Given the description of an element on the screen output the (x, y) to click on. 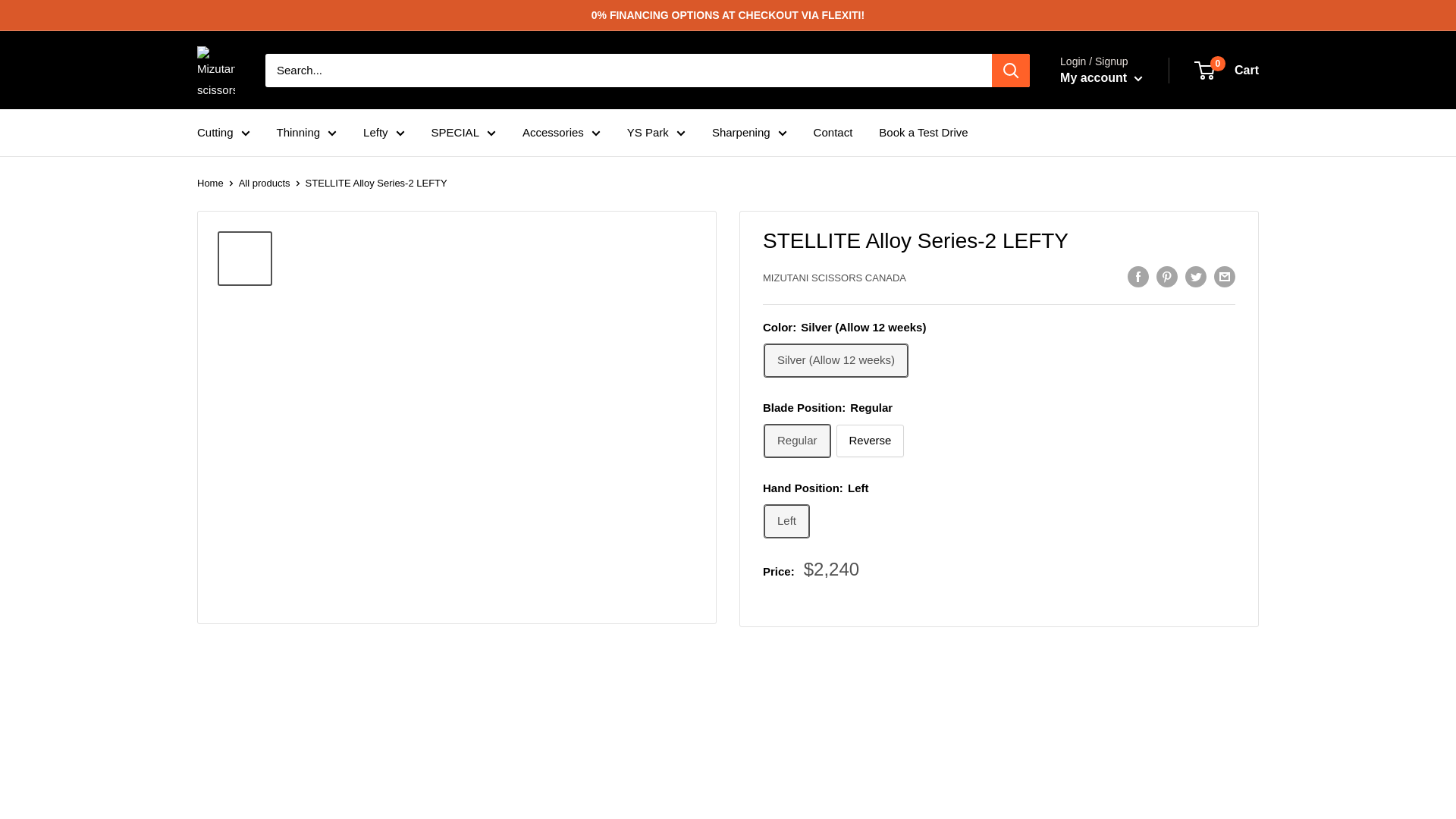
Left (786, 521)
Regular (796, 441)
Reverse (869, 441)
